Given the description of an element on the screen output the (x, y) to click on. 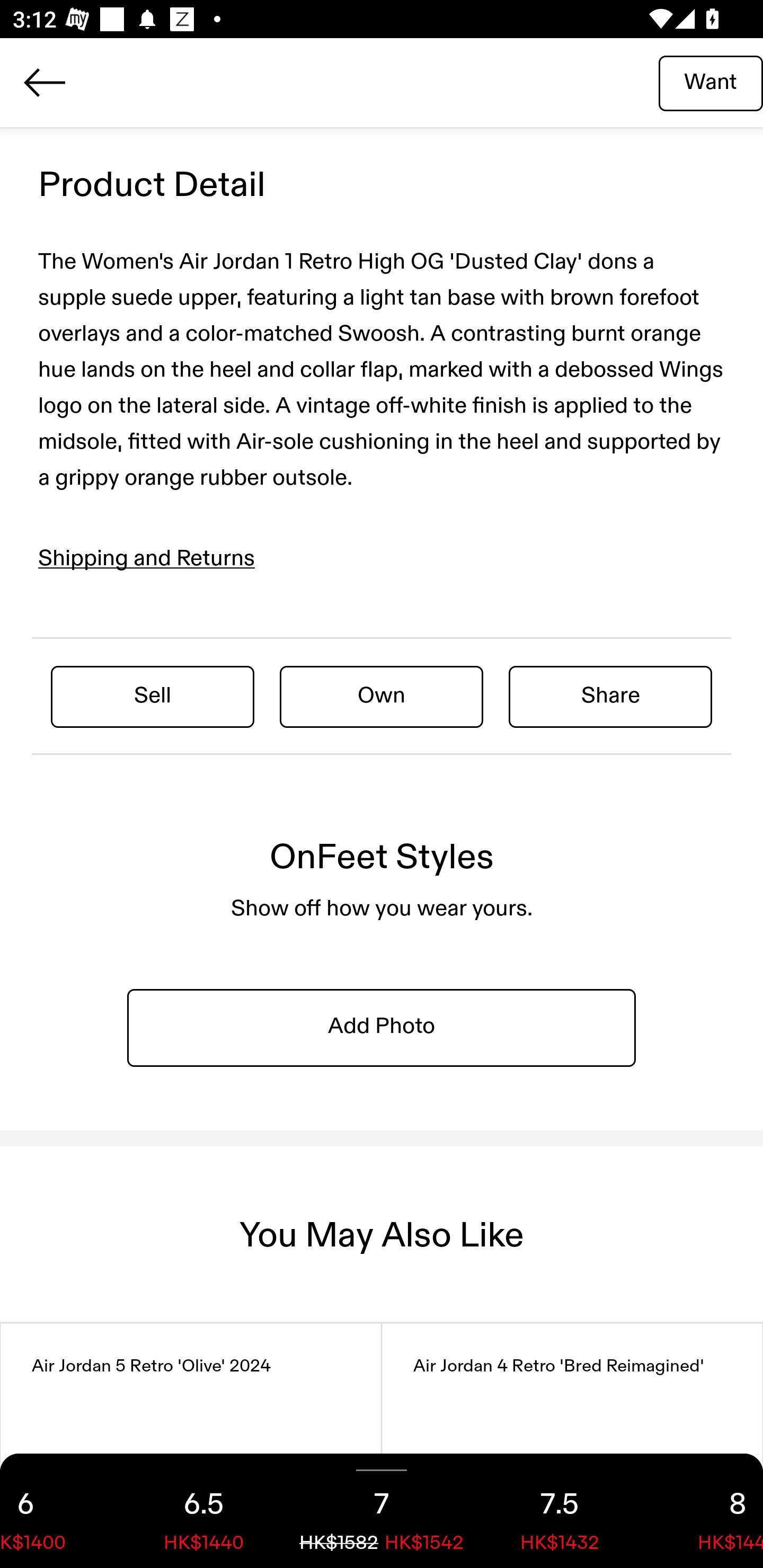
Want (710, 82)
Shipping and Returns (146, 558)
Sell (152, 695)
Own (381, 695)
Share (609, 695)
Add Photo (381, 1026)
Air Jordan 5 Retro 'Olive' 2024 (190, 1445)
Air Jordan 4 Retro 'Bred Reimagined' (572, 1445)
6 HK$1400 (57, 1510)
6.5 HK$1440 (203, 1510)
7 HK$1582 HK$1542 (381, 1510)
7.5 HK$1432 (559, 1510)
8 HK$1440 (705, 1510)
